Given the description of an element on the screen output the (x, y) to click on. 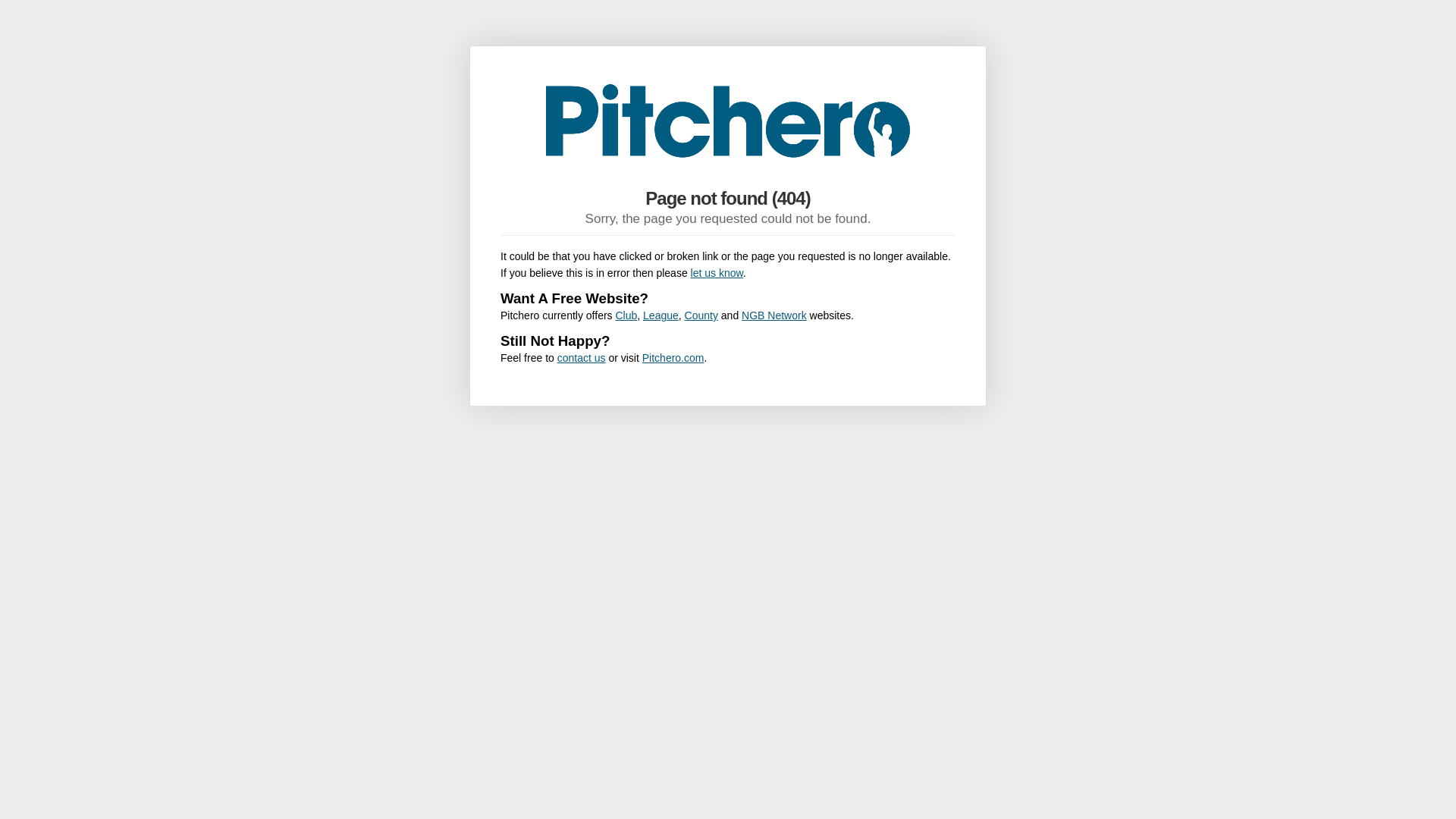
League (660, 315)
Club (625, 315)
NGB Network (773, 315)
County (700, 315)
let us know (716, 272)
